Given the description of an element on the screen output the (x, y) to click on. 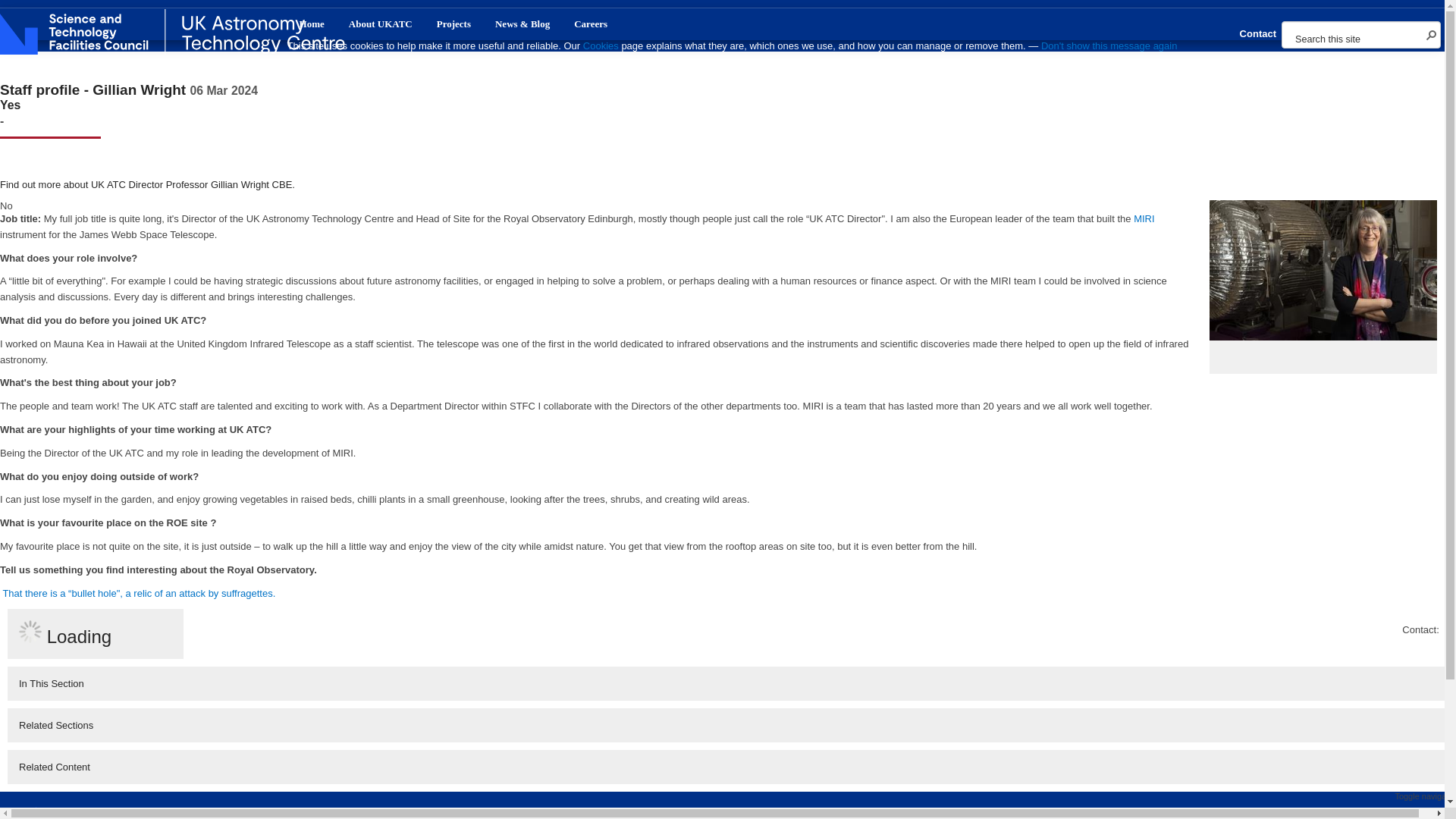
Projects (454, 24)
About UKATC (380, 24)
Search this site (1354, 39)
Contact (1257, 33)
Search this site (1354, 39)
Home (311, 24)
Careers (591, 24)
Search (1431, 34)
Don't show this message again (1109, 45)
Cookies (602, 45)
MIRI (1144, 218)
